Given the description of an element on the screen output the (x, y) to click on. 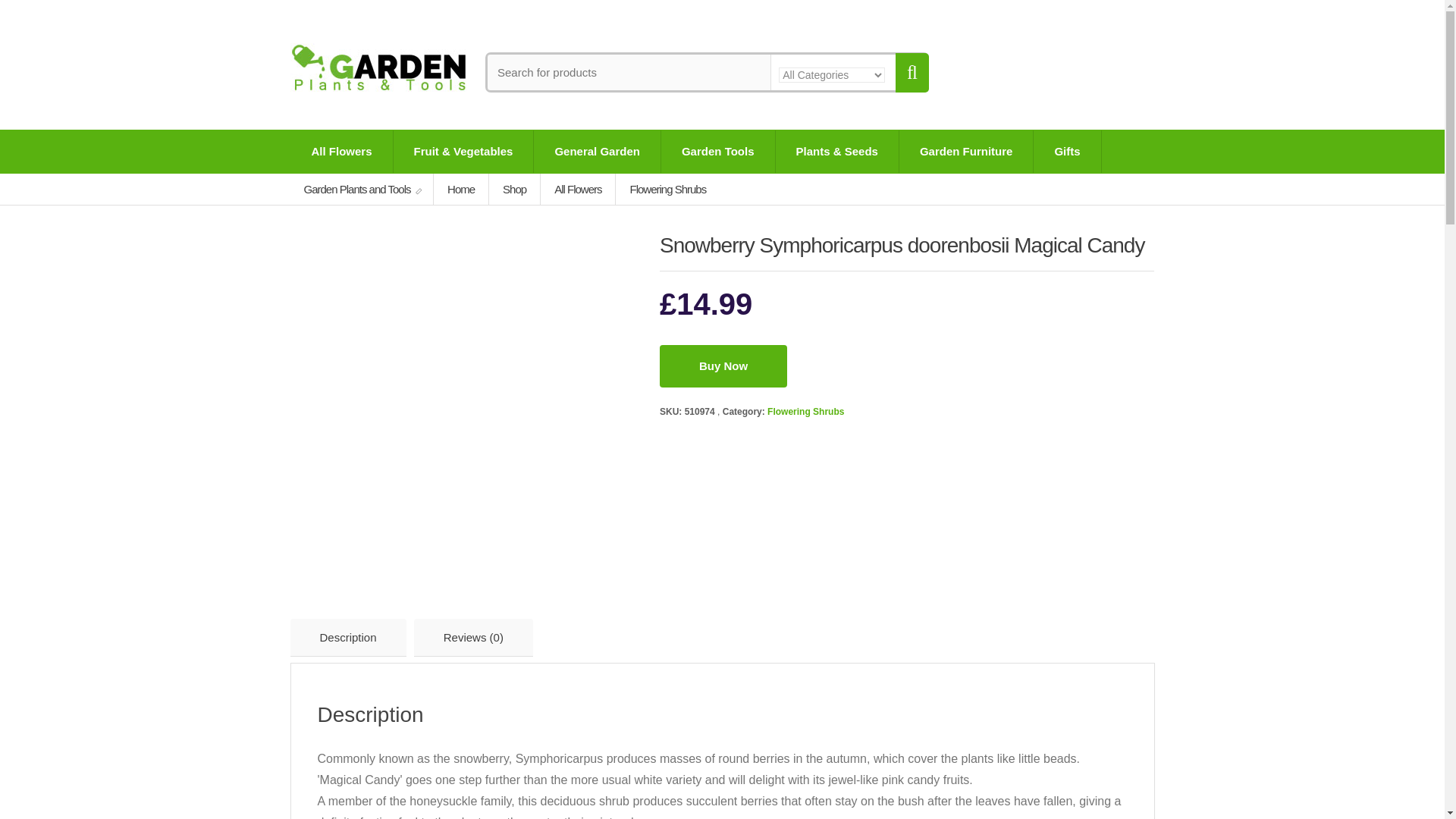
Garden Furniture (966, 151)
All Flowers (342, 151)
Garden Tools (717, 151)
Garden Furniture (966, 151)
All Flowers (342, 151)
General Garden (597, 151)
Gifts (1066, 151)
Garden Plants and Tools (361, 188)
Garden Tools (717, 151)
General Garden (597, 151)
